Given the description of an element on the screen output the (x, y) to click on. 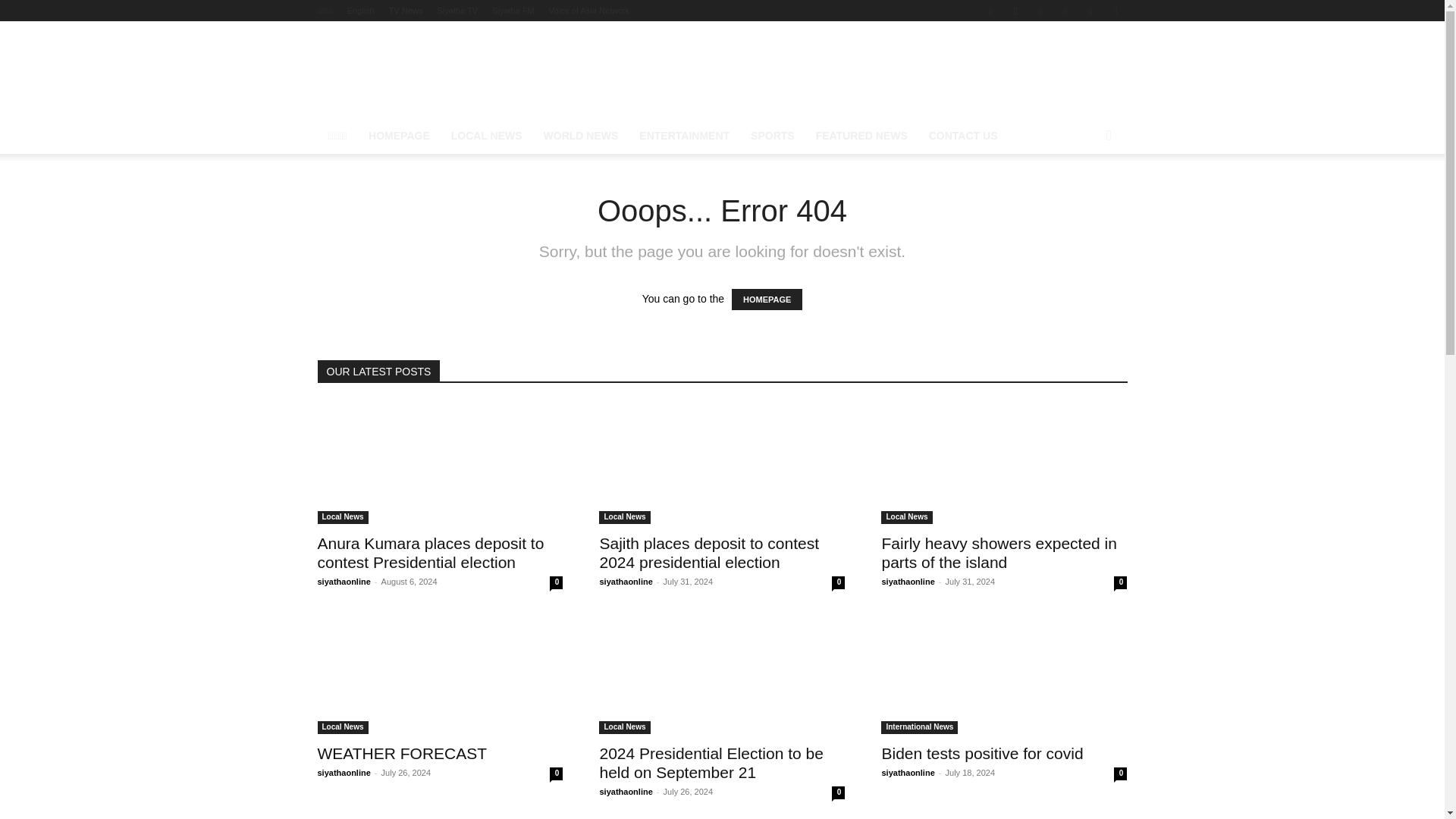
WORLD NEWS (580, 135)
TikTok (1065, 10)
Siyatha TV (456, 10)
HOMEPAGE (399, 135)
English (360, 10)
Telegram (1040, 10)
SPORTS (772, 135)
Sajith places deposit to contest 2024 presidential election (721, 463)
Voice of Asia Network (588, 10)
CONTACT US (963, 135)
